Given the description of an element on the screen output the (x, y) to click on. 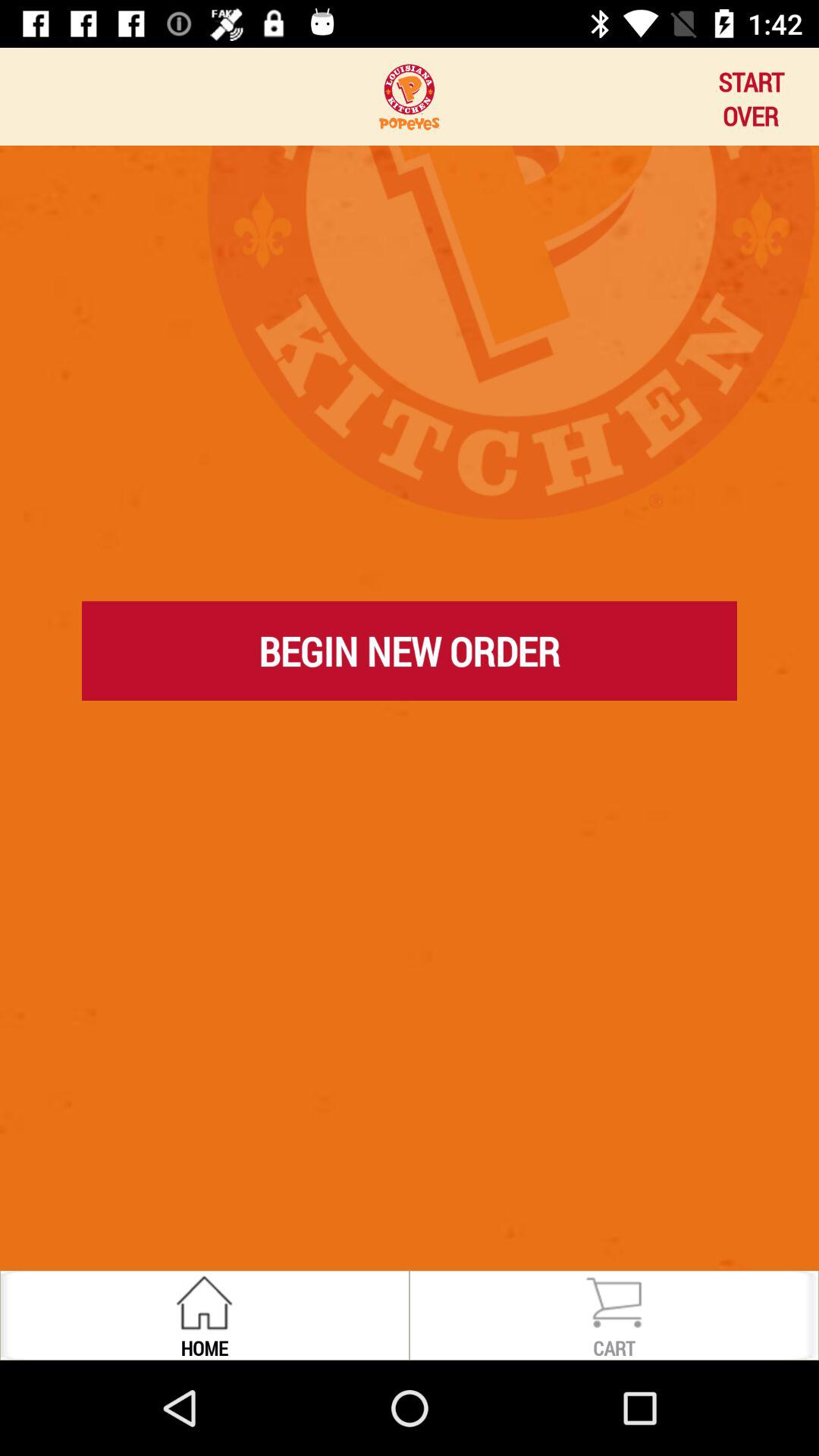
choose icon at the top right corner (750, 96)
